Given the description of an element on the screen output the (x, y) to click on. 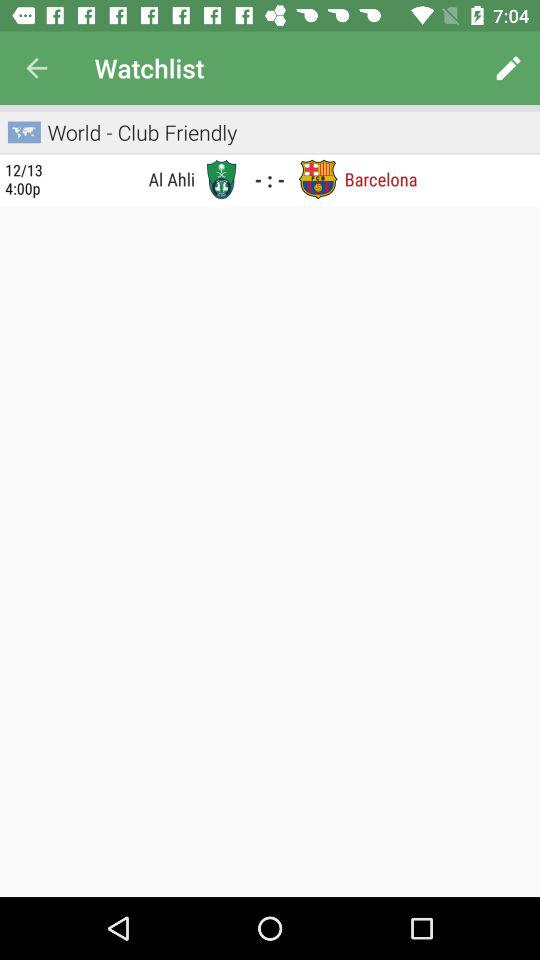
press the item next to watchlist icon (36, 68)
